Given the description of an element on the screen output the (x, y) to click on. 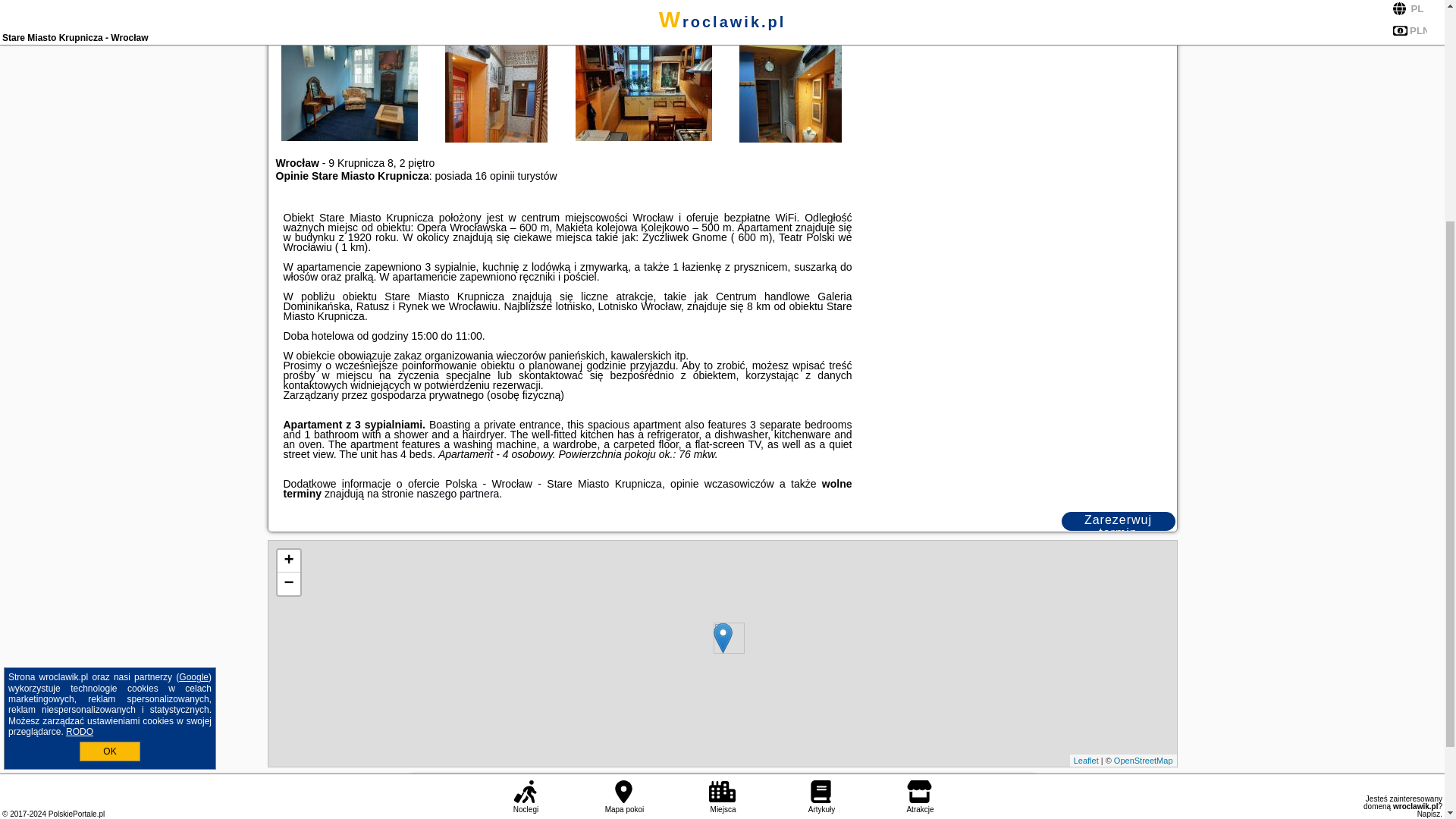
Atrakcje (919, 469)
Urlop Wczasy Stare Miasto Krupnicza Polska (938, 16)
Miejsca (722, 469)
Urlop Wczasy Stare Miasto Krupnicza Polska (1085, 16)
Urlop Wczasy Stare Miasto Krupnicza Polska (497, 16)
Noclegi (525, 469)
PolskiePortale.pl (76, 485)
Urlop Wczasy Stare Miasto Krupnicza Polska (644, 31)
OpenStreetMap (1143, 759)
Zarezerwuj termin (1117, 520)
